Given the description of an element on the screen output the (x, y) to click on. 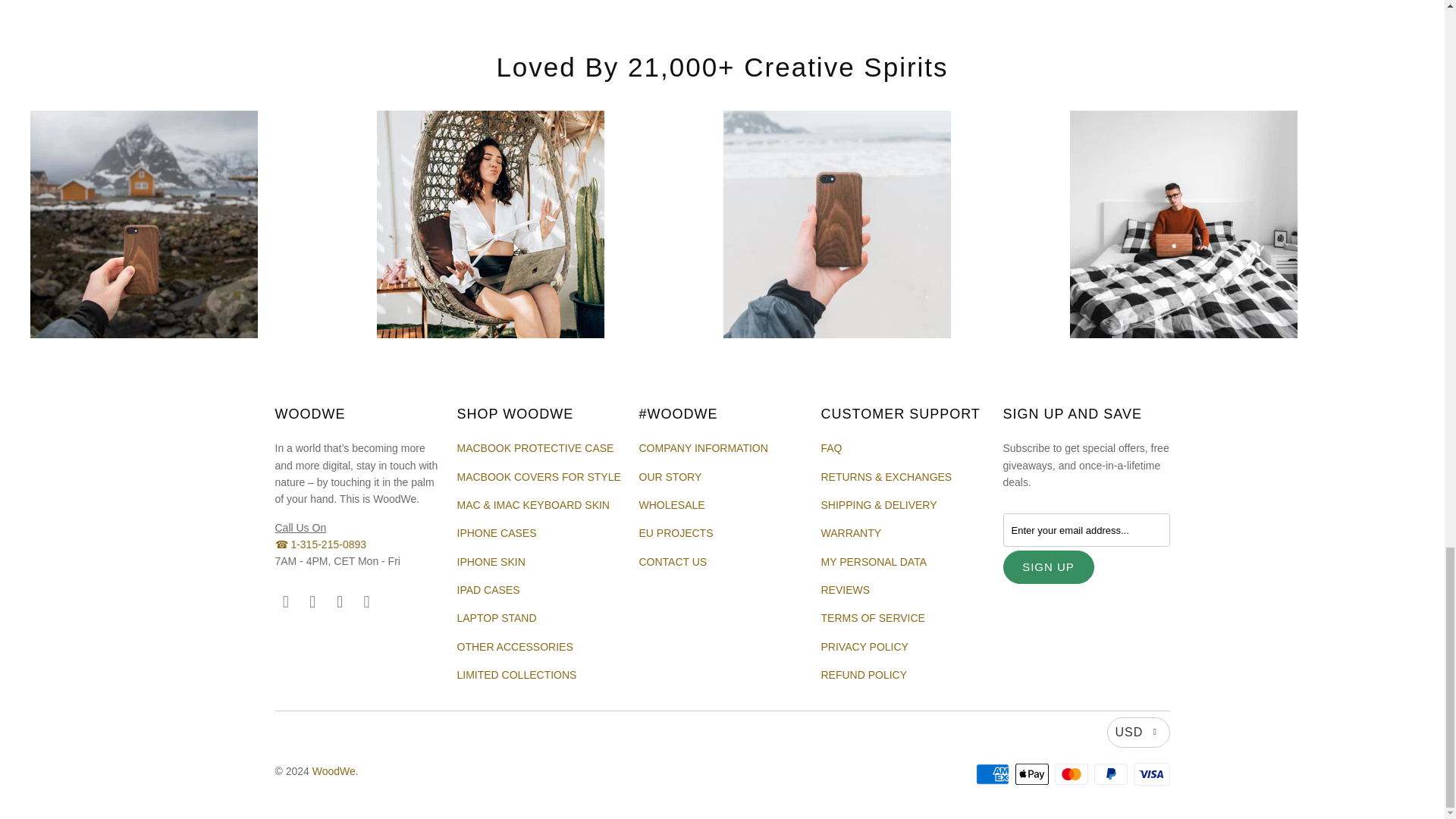
WoodWe on LinkedIn (340, 601)
Apple Pay (1032, 773)
WoodWe on Instagram (312, 601)
Sign Up (1048, 566)
IPHONE CASES (496, 532)
Mastercard (1072, 773)
American Express (993, 773)
MACBOOK COVERS (538, 476)
Visa (1150, 773)
MACBOOK CASE FOR PROTECTION (534, 448)
Email WoodWe (366, 601)
WoodWe on Facebook (286, 601)
PayPal (1112, 773)
